Given the description of an element on the screen output the (x, y) to click on. 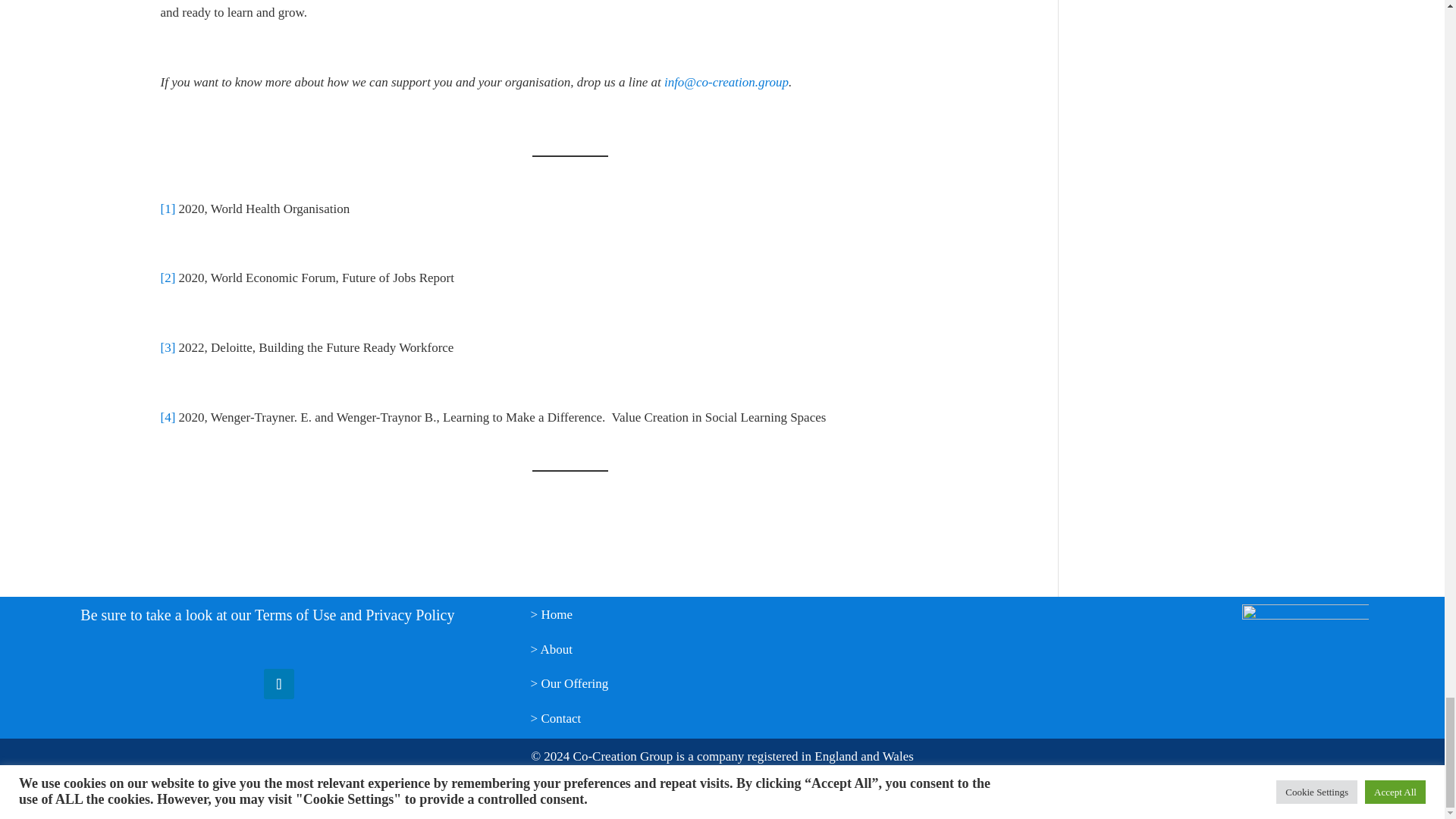
Follow on LinkedIn (278, 684)
signup blue 1000x1000 (1304, 667)
